Given the description of an element on the screen output the (x, y) to click on. 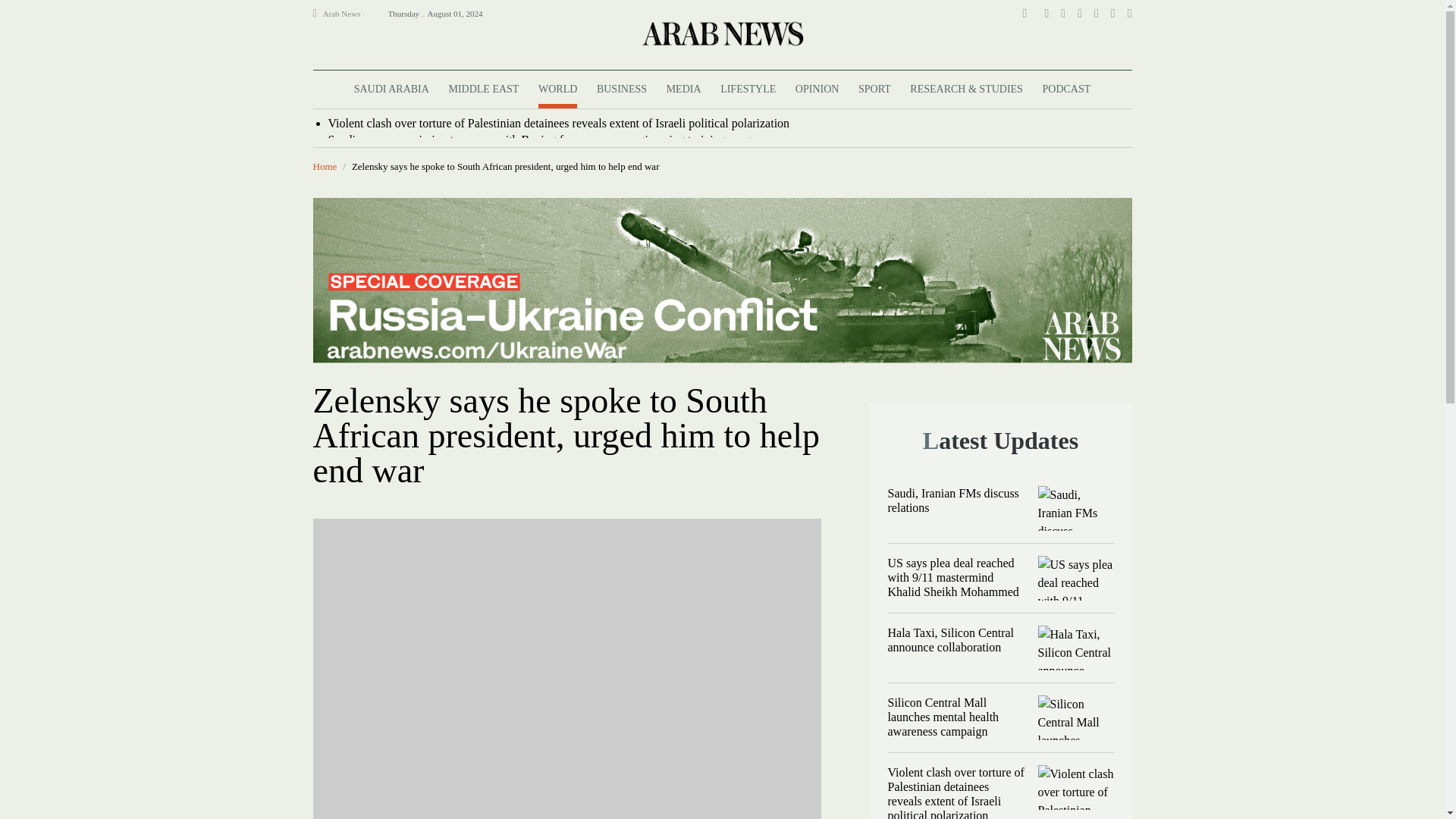
Arabnews (721, 33)
Hala Taxi, Silicon Central announce collaboration (1074, 647)
Arab News (348, 13)
